Given the description of an element on the screen output the (x, y) to click on. 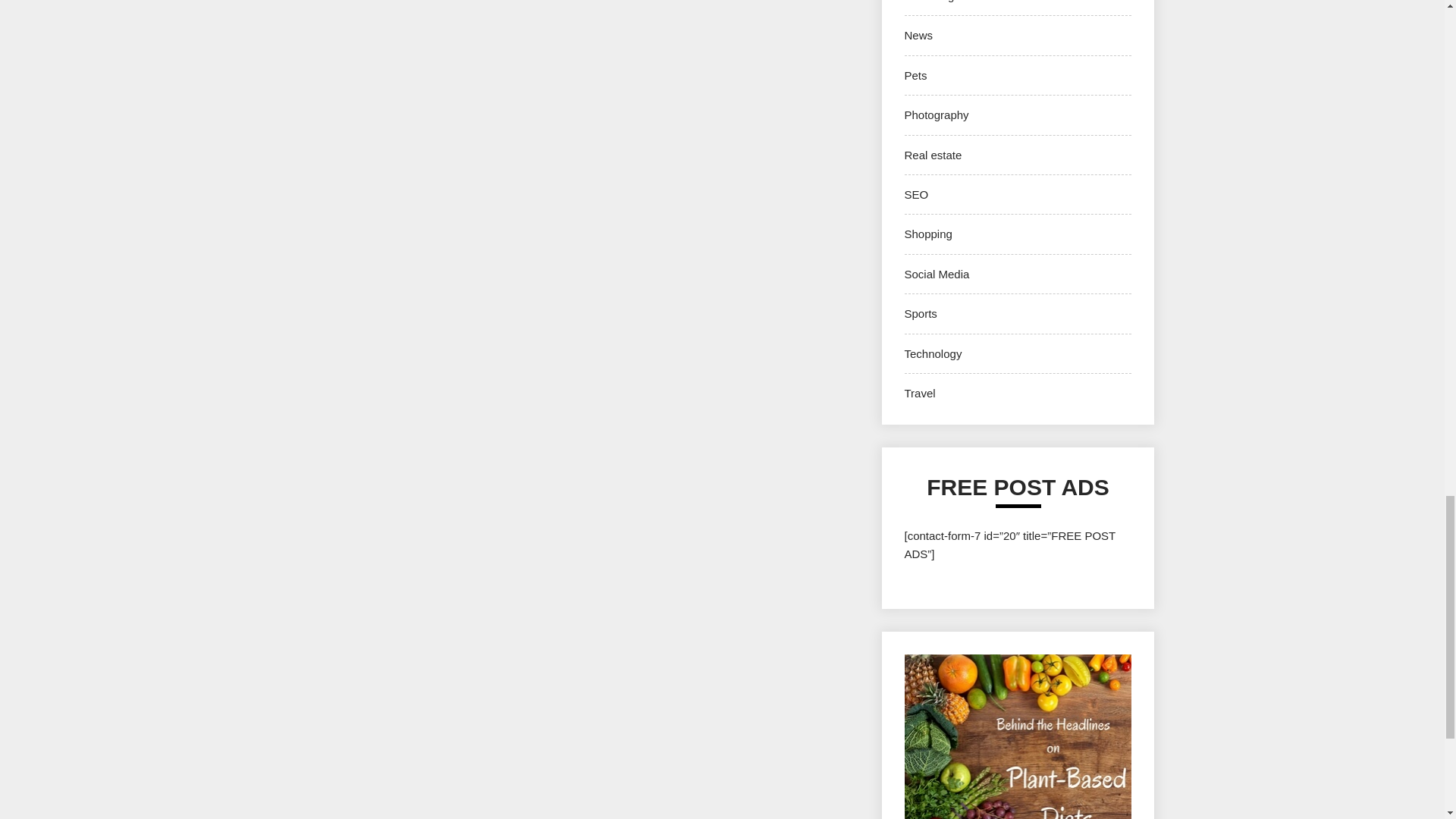
Marketing (928, 1)
Photography (936, 114)
SEO (916, 194)
Real estate (932, 154)
News (918, 34)
Pets (915, 74)
